Given the description of an element on the screen output the (x, y) to click on. 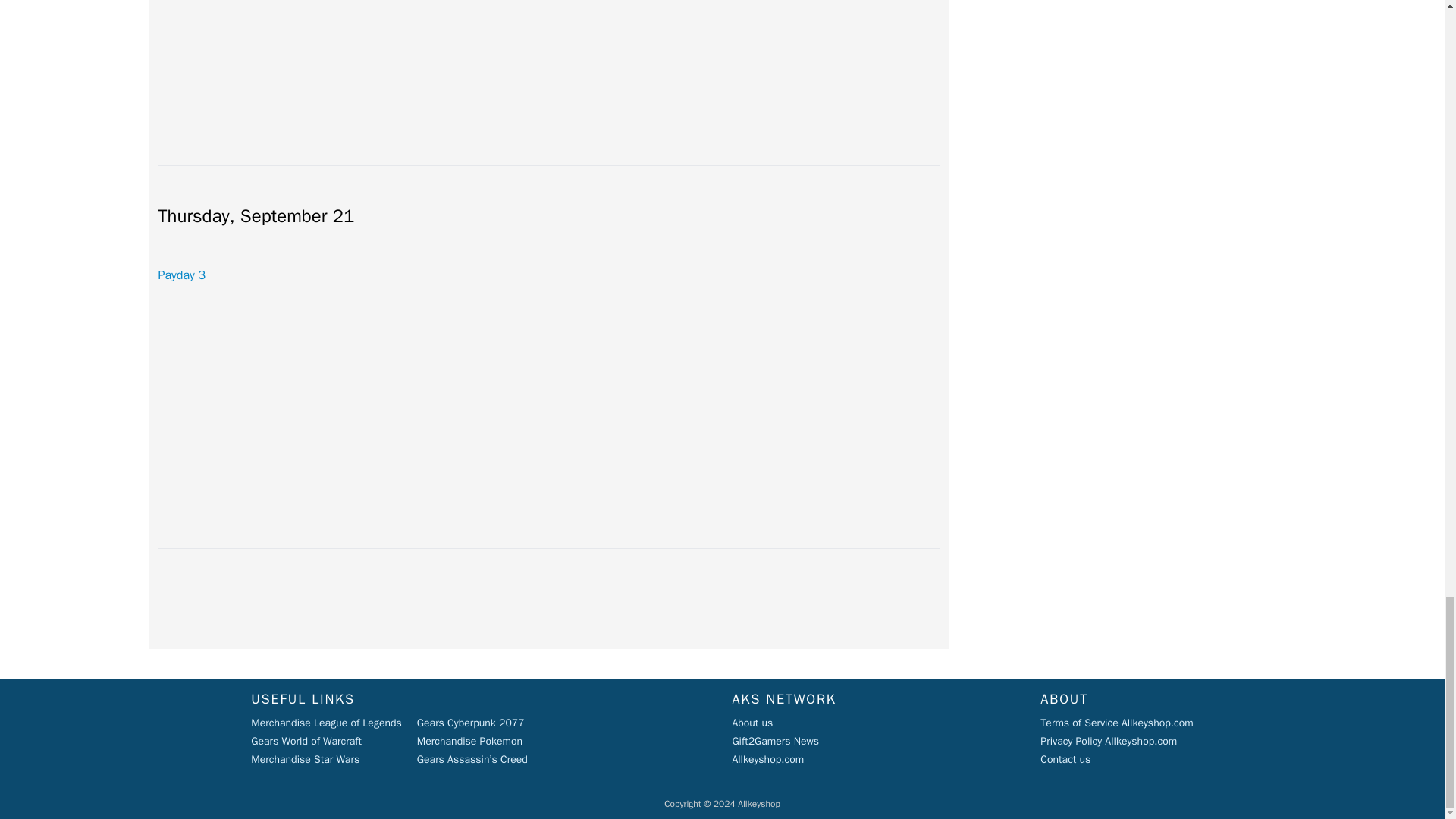
Payday 3 (181, 274)
